Given the description of an element on the screen output the (x, y) to click on. 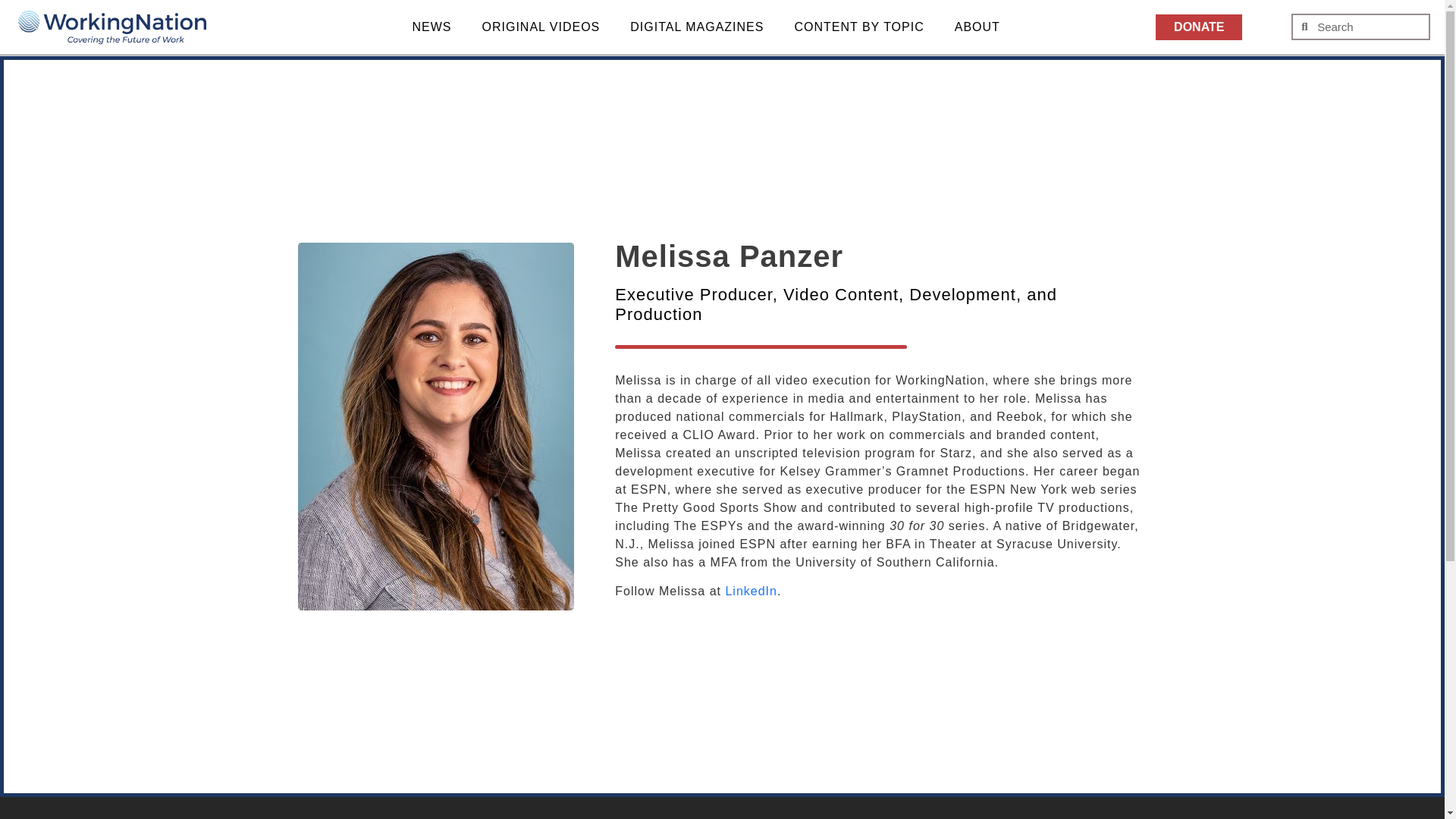
WNlogoBluewithtagline (112, 28)
DIGITAL MAGAZINES (696, 27)
ORIGINAL VIDEOS (541, 27)
CONTENT BY TOPIC (858, 27)
ABOUT (977, 27)
NEWS (432, 27)
